Given the description of an element on the screen output the (x, y) to click on. 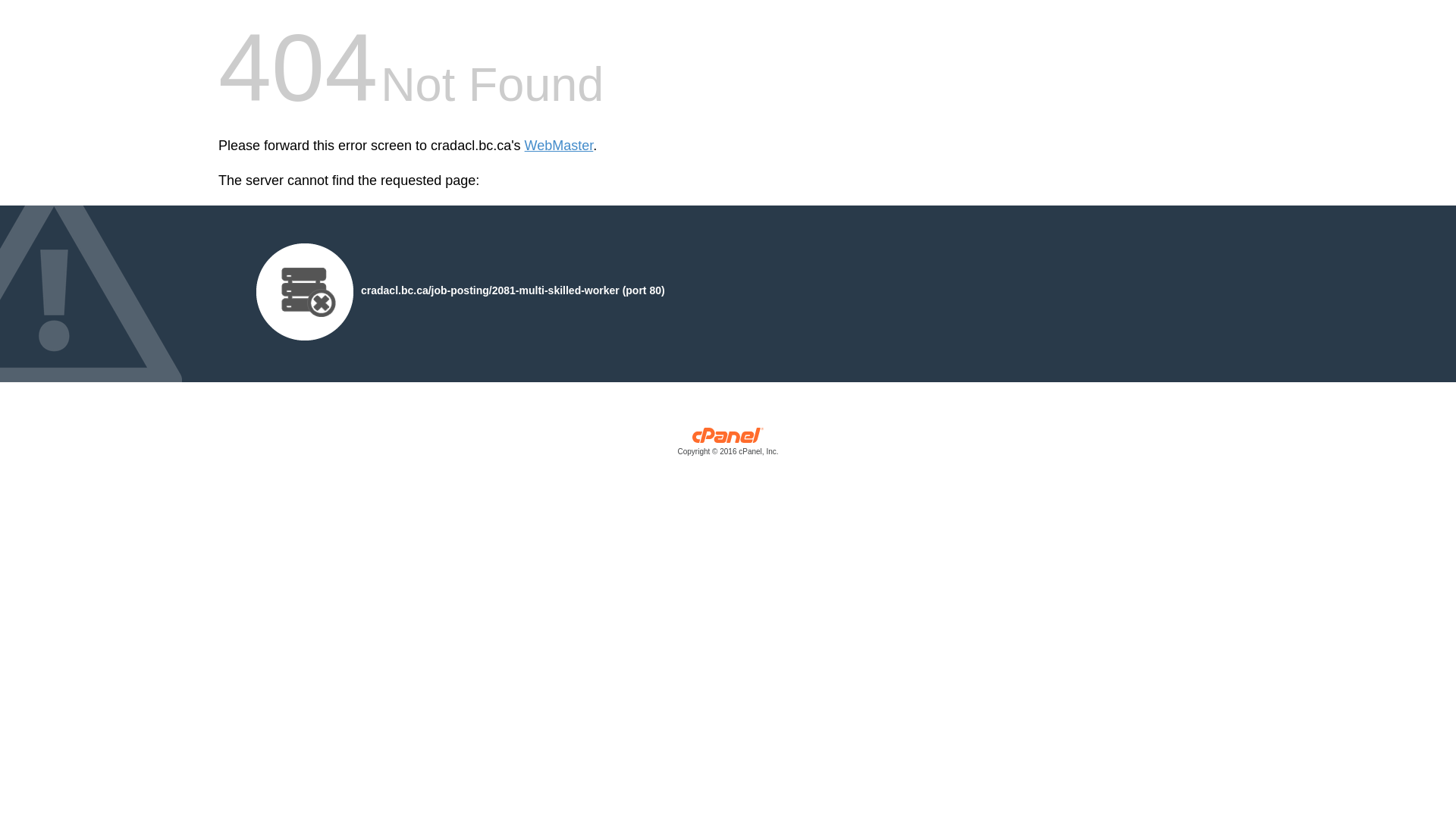
WebMaster Element type: text (558, 145)
